Given the description of an element on the screen output the (x, y) to click on. 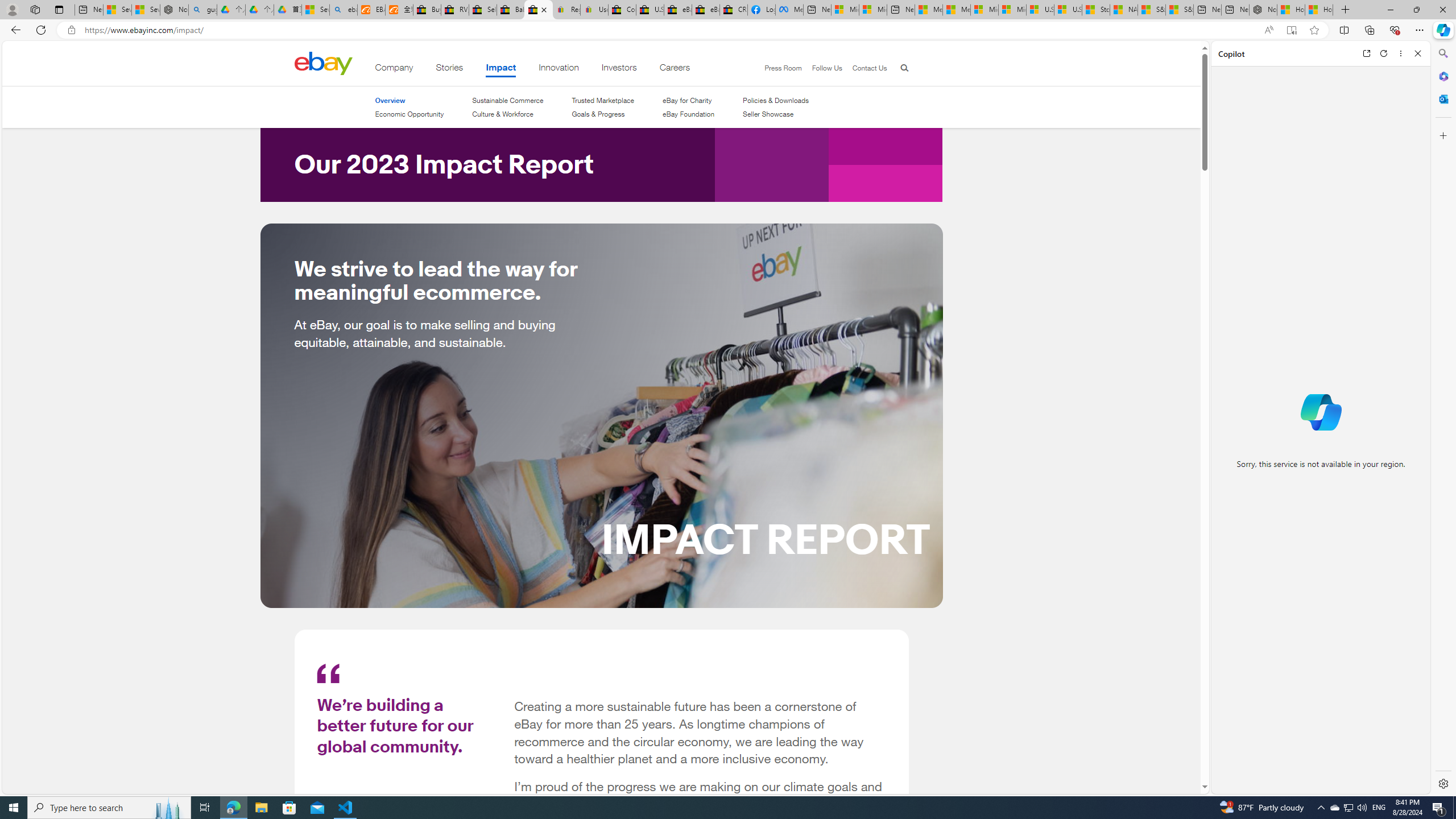
Seller Showcase (767, 113)
ebay - Search (343, 9)
Register: Create a personal eBay account (566, 9)
eBay for Charity (686, 99)
Minimize (1390, 9)
Open link in new tab (1366, 53)
Impact (501, 69)
Careers (674, 69)
Economic Opportunity (409, 113)
Split screen (1344, 29)
Sustainable Commerce (507, 99)
Tab actions menu (58, 9)
Copilot (Ctrl+Shift+.) (1442, 29)
